Given the description of an element on the screen output the (x, y) to click on. 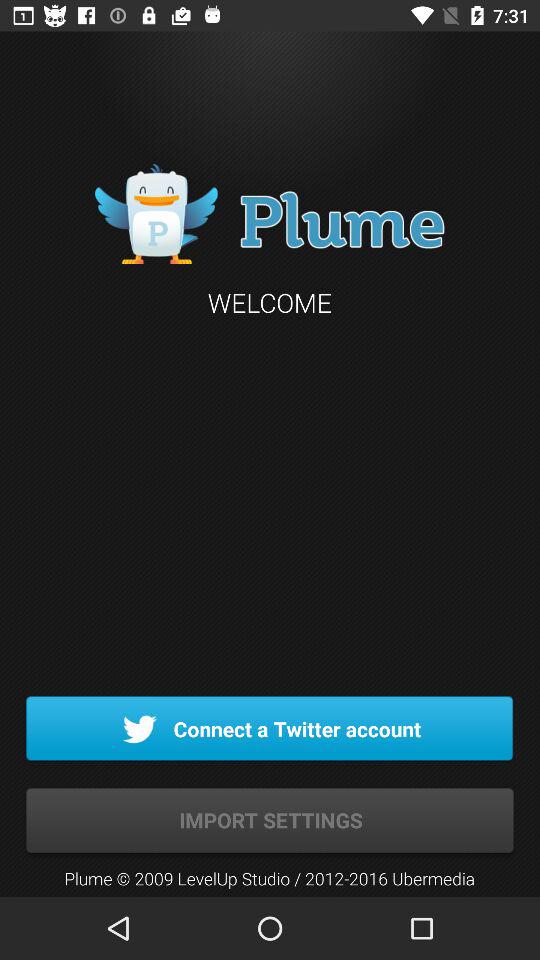
press the icon above plume 2009 levelup item (269, 820)
